Given the description of an element on the screen output the (x, y) to click on. 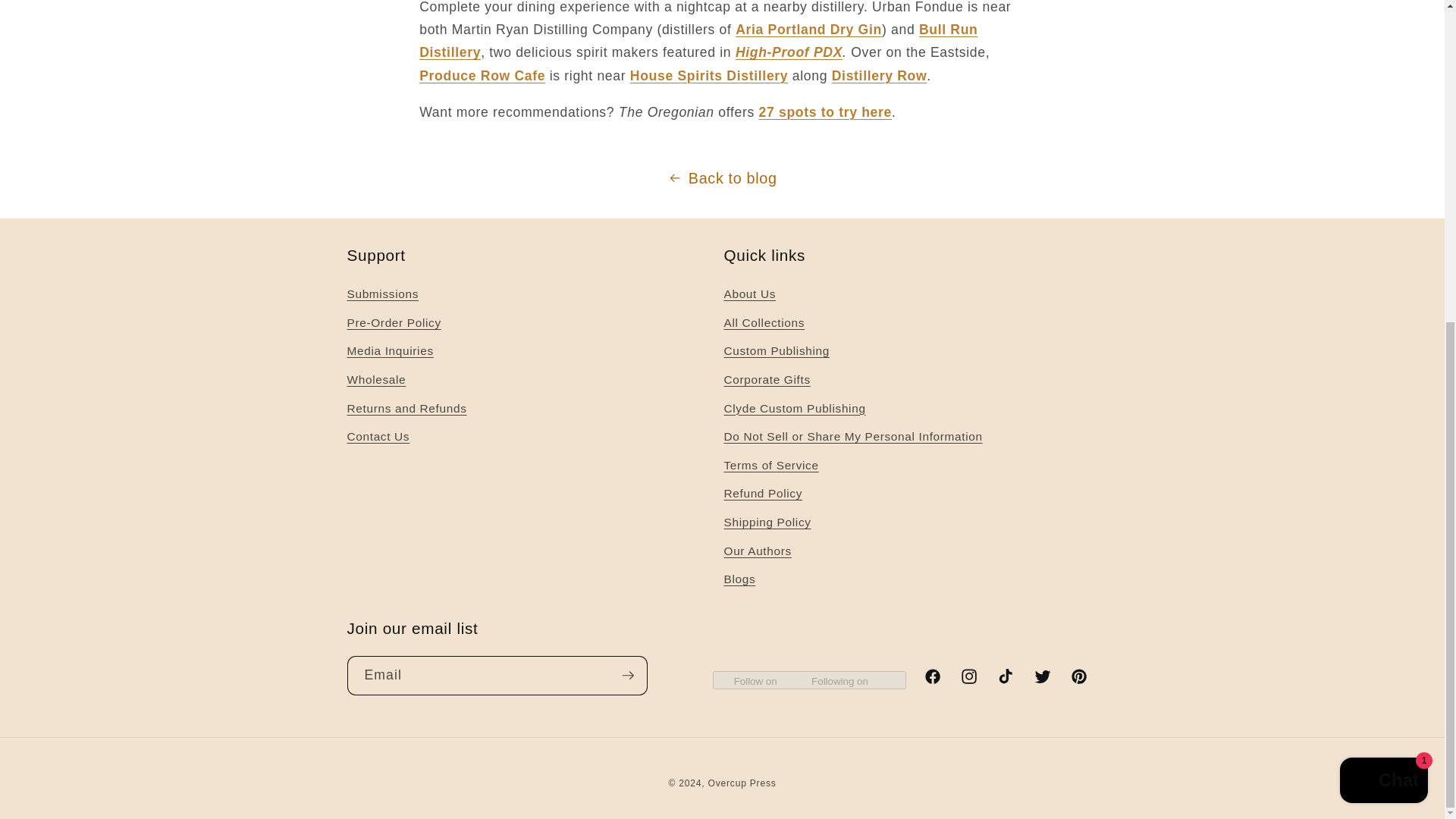
distilleryrow (879, 75)
Shopify online store chat (1383, 257)
producerowcafe (481, 75)
27spotstotry (825, 111)
highproofpdx (789, 52)
ariagin (808, 29)
bullrundistillery (697, 40)
Housespirits (708, 75)
